Given the description of an element on the screen output the (x, y) to click on. 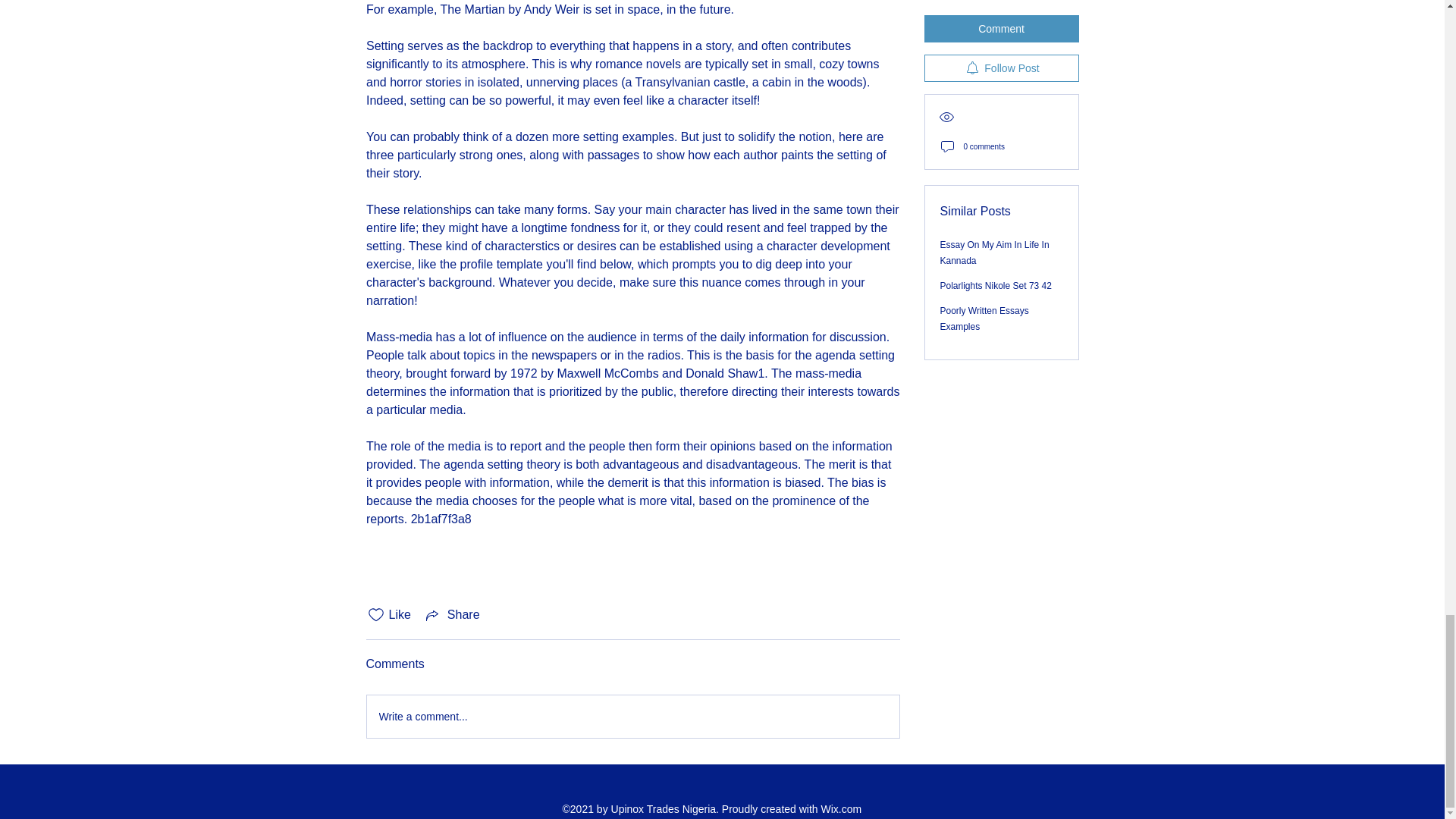
Share (451, 615)
Write a comment... (632, 716)
